Given the description of an element on the screen output the (x, y) to click on. 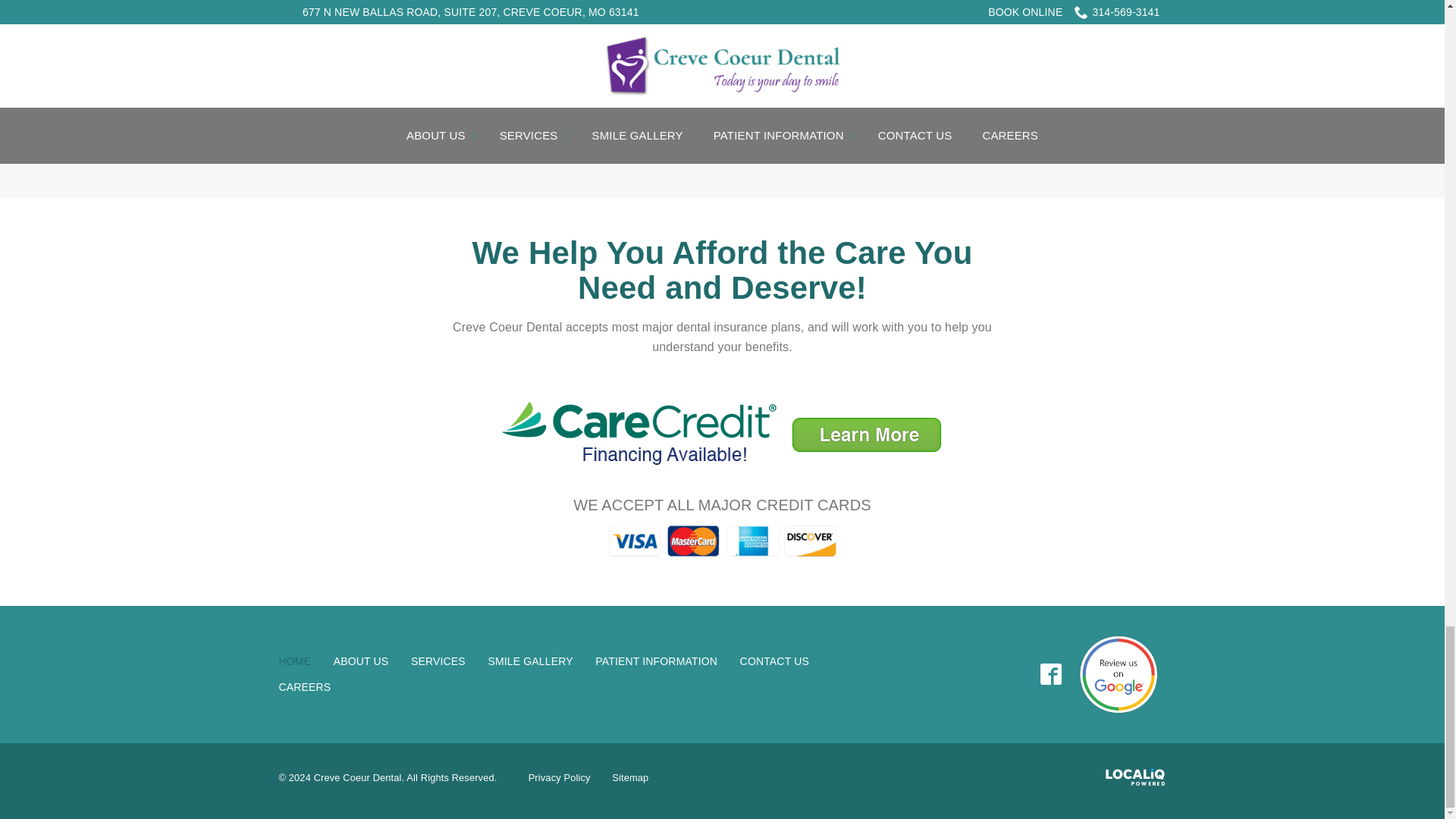
facebook (1051, 674)
